Given the description of an element on the screen output the (x, y) to click on. 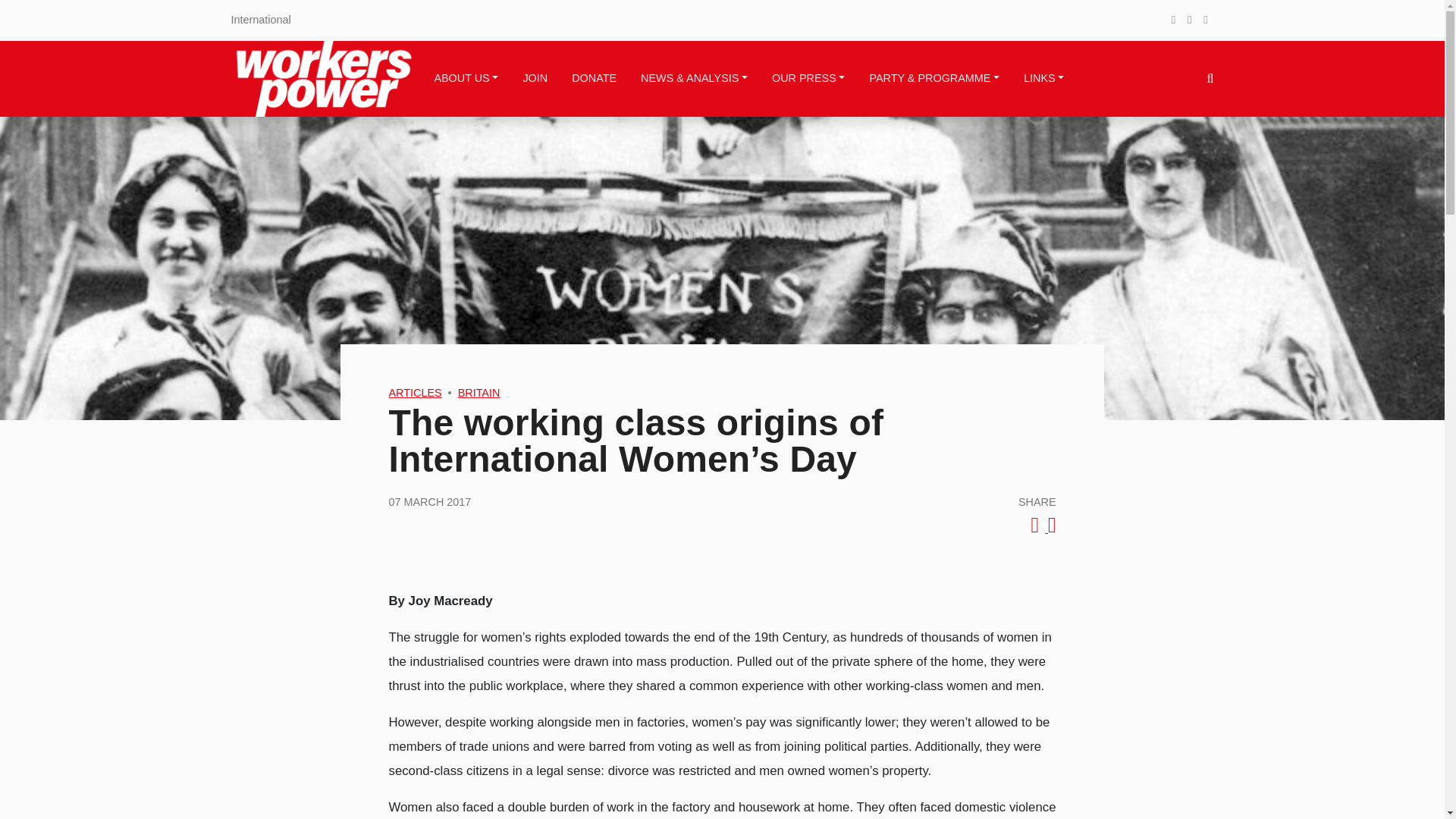
Twitter (1188, 20)
ABOUT US (465, 78)
Instagram (1204, 20)
Facebook (1173, 20)
JOIN (534, 78)
DONATE (594, 78)
International (259, 19)
